Given the description of an element on the screen output the (x, y) to click on. 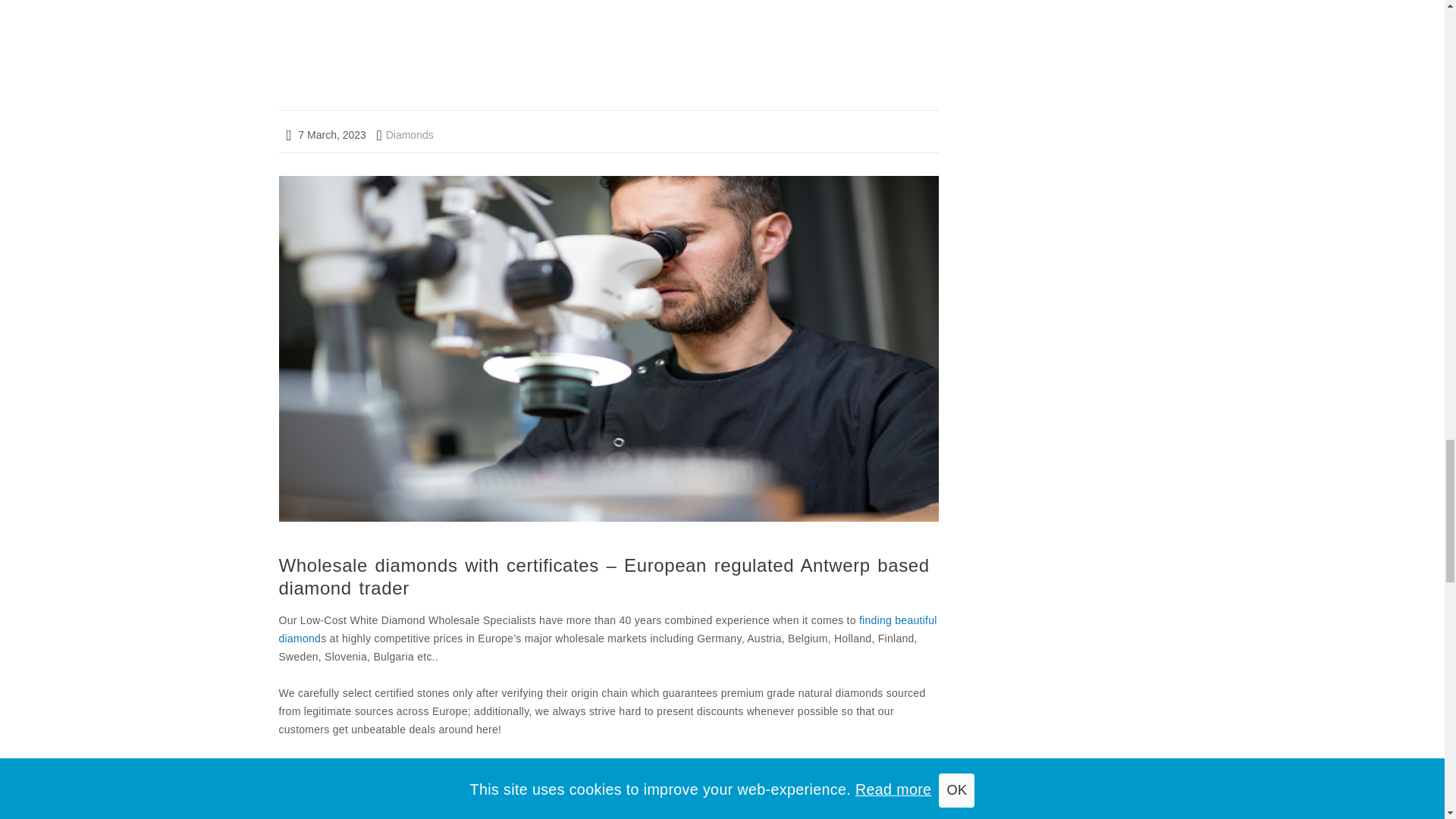
finding beautiful diamond (608, 629)
Diamonds (405, 134)
Diamonds (415, 817)
smaller white diamonds (392, 766)
